Given the description of an element on the screen output the (x, y) to click on. 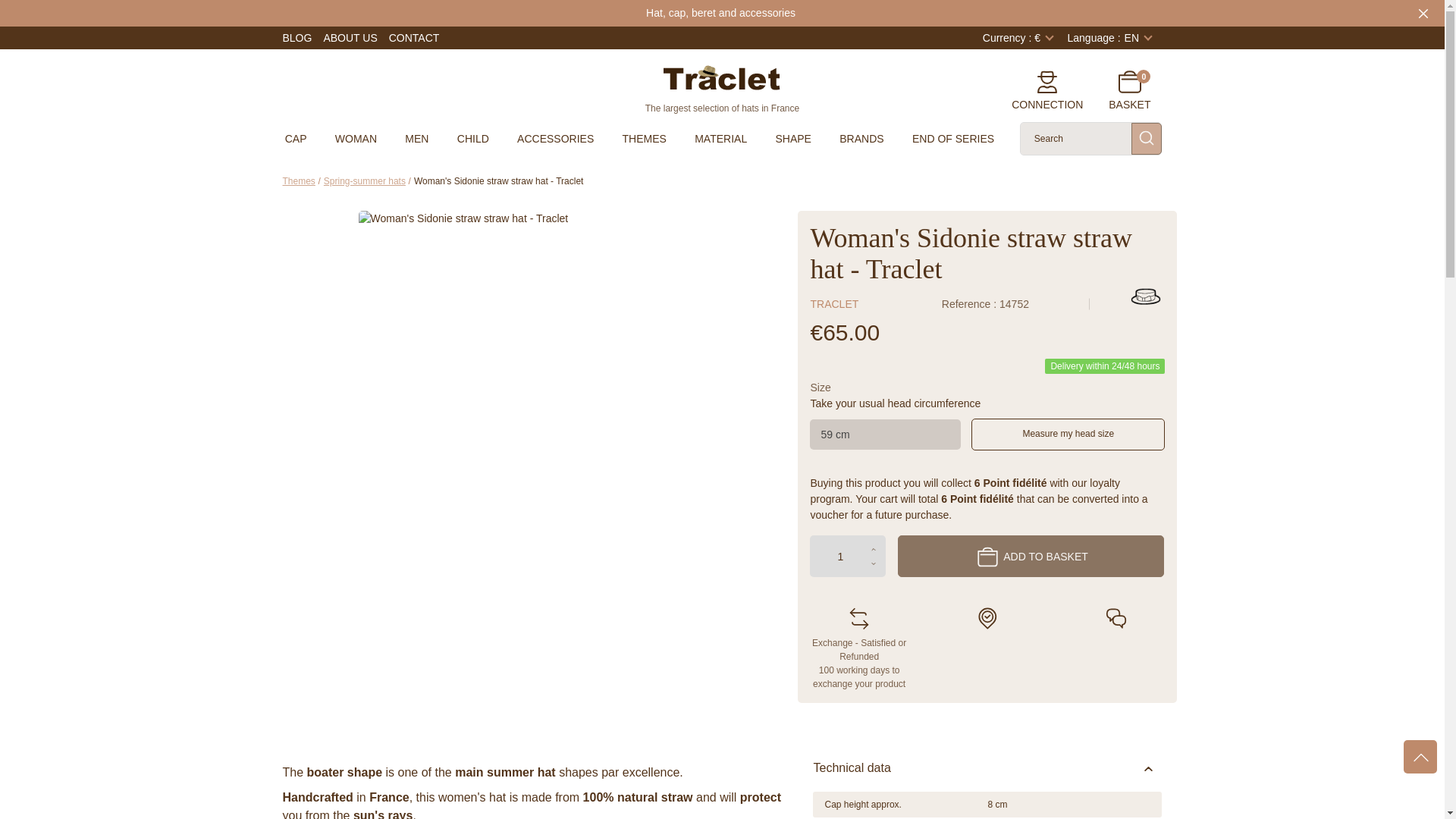
1 (847, 556)
CONTACT (413, 37)
ABOUT US (350, 37)
BLOG (296, 37)
59 cm (884, 434)
Chapellerie Traclet (721, 76)
WOMAN (356, 138)
Woman's Sidonie straw straw hat - Traclet (462, 218)
